Given the description of an element on the screen output the (x, y) to click on. 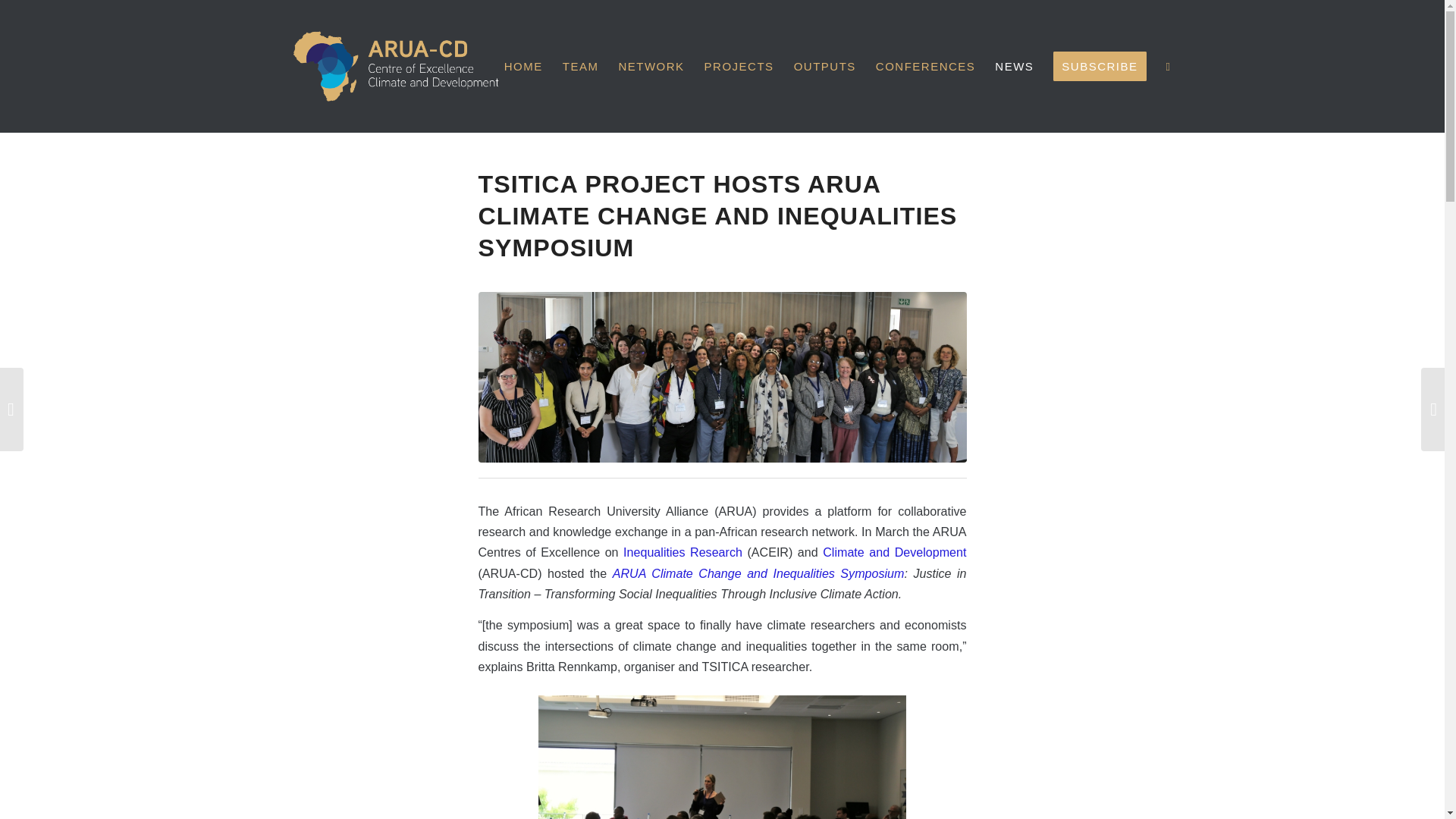
ARUA Climate Change and Inequalities Symposium (758, 572)
CONFERENCES (925, 66)
Inequalities Research (682, 551)
Climate and Development (894, 551)
